Given the description of an element on the screen output the (x, y) to click on. 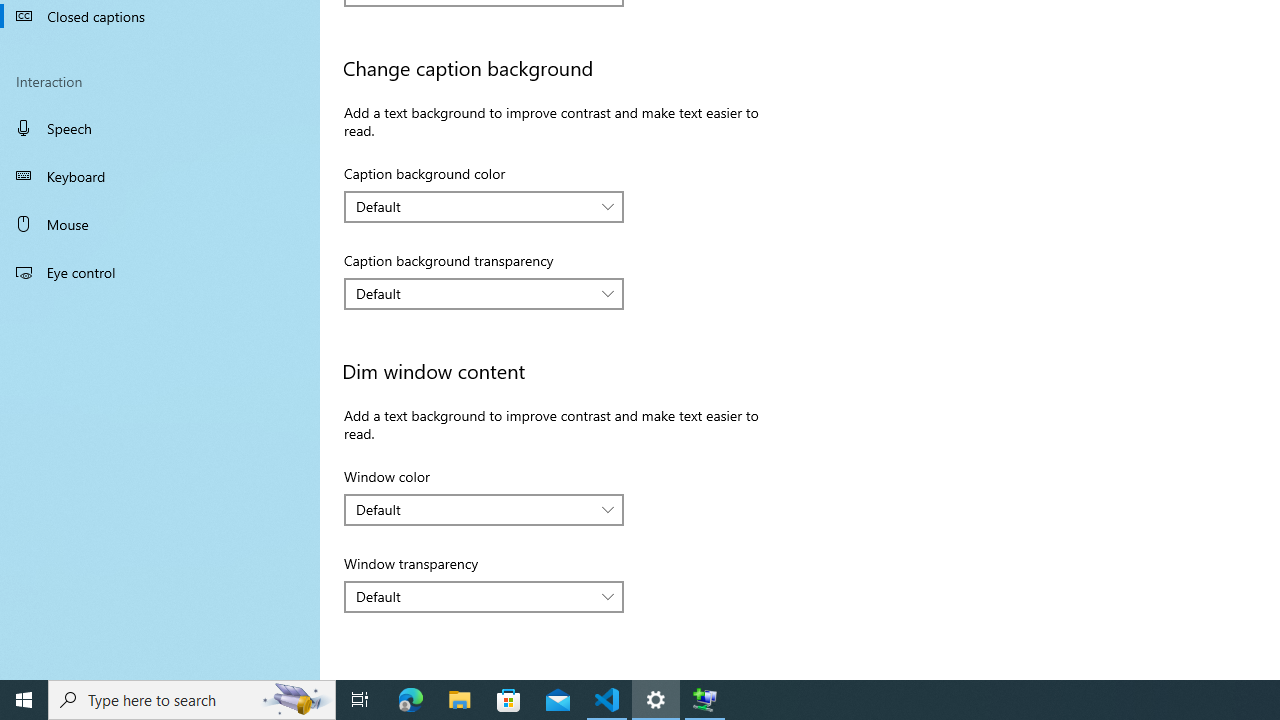
Window color (484, 509)
